Given the description of an element on the screen output the (x, y) to click on. 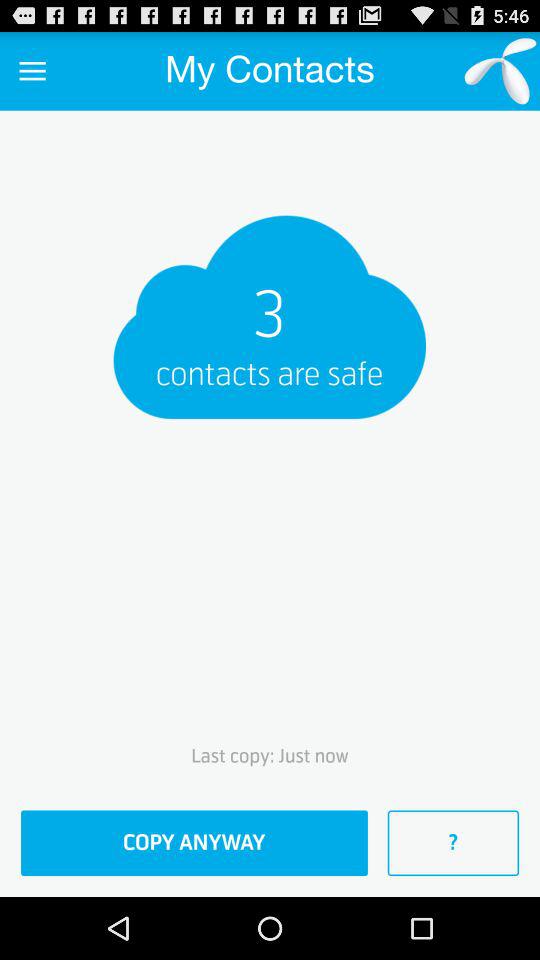
launch icon below last copy just item (194, 843)
